Given the description of an element on the screen output the (x, y) to click on. 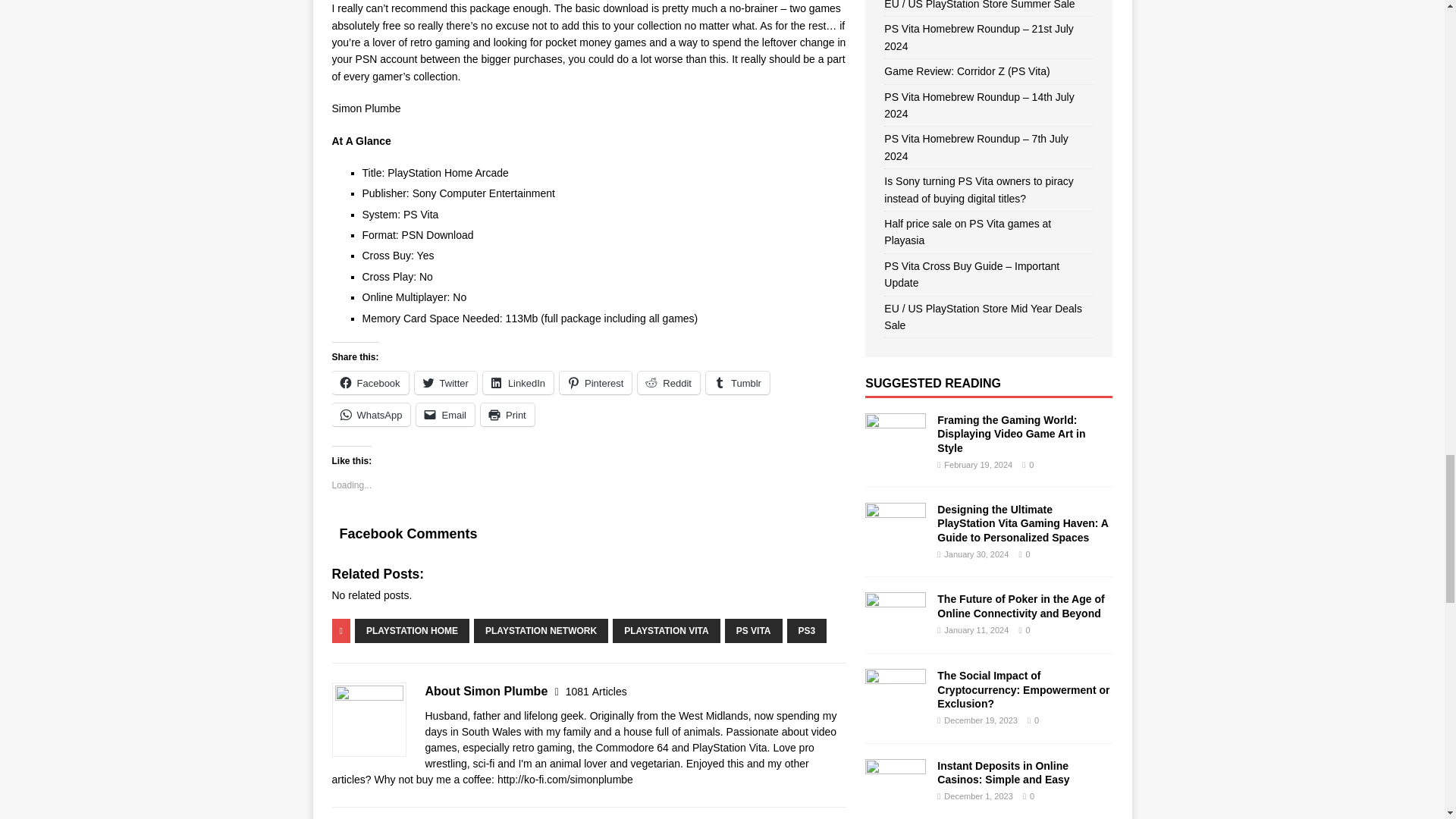
Click to share on Pinterest (595, 382)
Click to share on Reddit (668, 382)
More articles written by Simon Plumbe' (596, 691)
Click to share on LinkedIn (518, 382)
Click to share on Tumblr (738, 382)
Click to share on Facebook (370, 382)
Click to print (507, 414)
Framing the Gaming World: Displaying Video Game Art in Style (895, 450)
Click to email a link to a friend (445, 414)
Click to share on WhatsApp (370, 414)
